Given the description of an element on the screen output the (x, y) to click on. 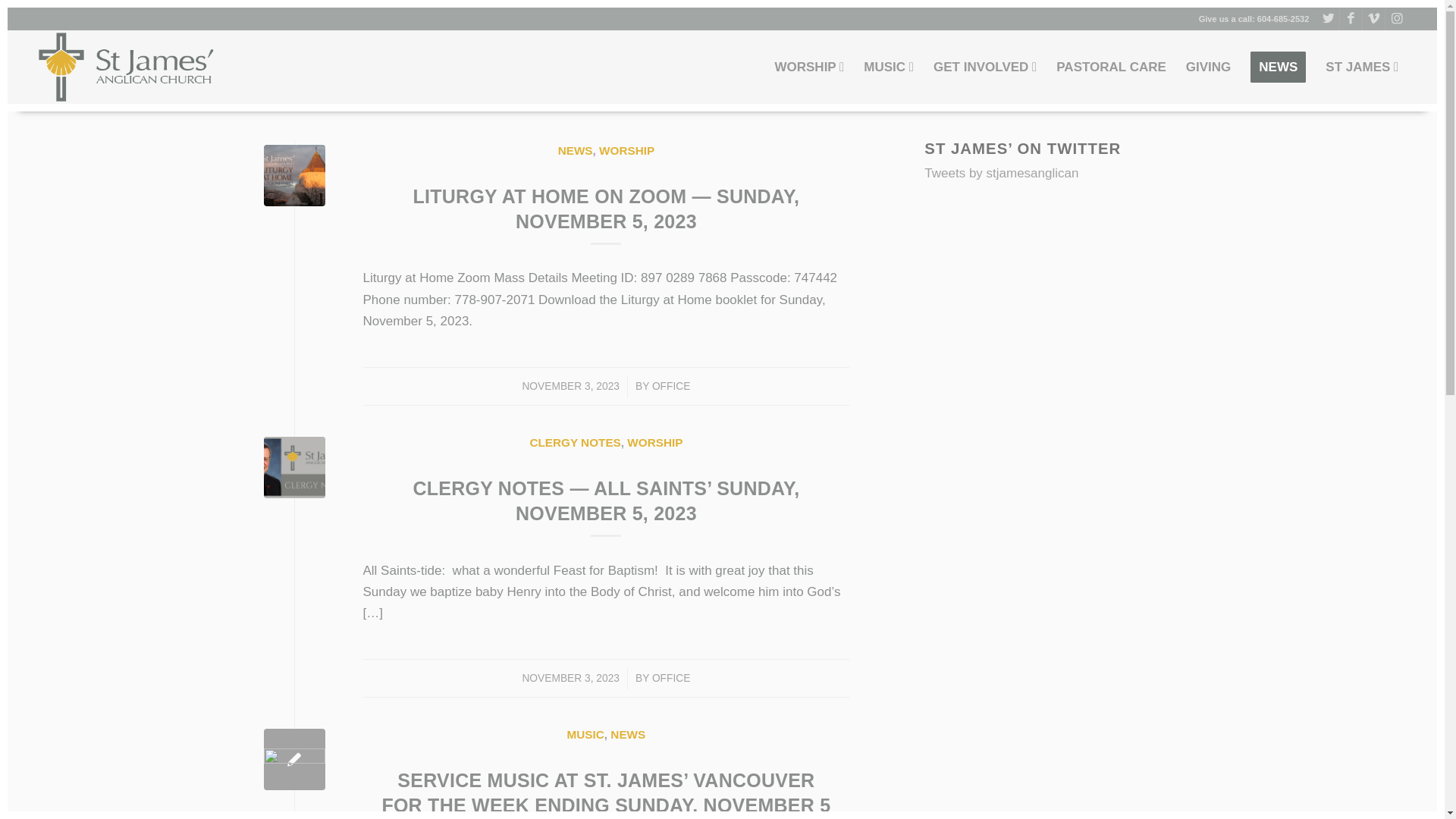
NEWS Element type: text (627, 734)
StJ-Liturgy At Home-banner Element type: hover (294, 175)
Vimeo Element type: hover (1373, 18)
WORSHIP Element type: text (654, 442)
NEWS Element type: text (575, 150)
Tweets by stjamesanglican Element type: text (1001, 173)
Twitter Element type: hover (1328, 18)
GIVING Element type: text (1208, 66)
CLERGY NOTES Element type: text (574, 442)
Facebook Element type: hover (1350, 18)
OFFICE Element type: text (671, 678)
Instagram Element type: hover (1396, 18)
OFFICE Element type: text (671, 386)
604-685-2532 Element type: text (1283, 18)
MUSIC Element type: text (585, 734)
StJ-ClergyNotes-FrK Element type: hover (294, 467)
NEWS Element type: text (1277, 66)
WORSHIP Element type: text (626, 150)
stjames-logo-gold-sm2-min Element type: hover (126, 66)
StJ-SacredMusic-banner Element type: hover (294, 759)
PASTORAL CARE Element type: text (1111, 66)
